Given the description of an element on the screen output the (x, y) to click on. 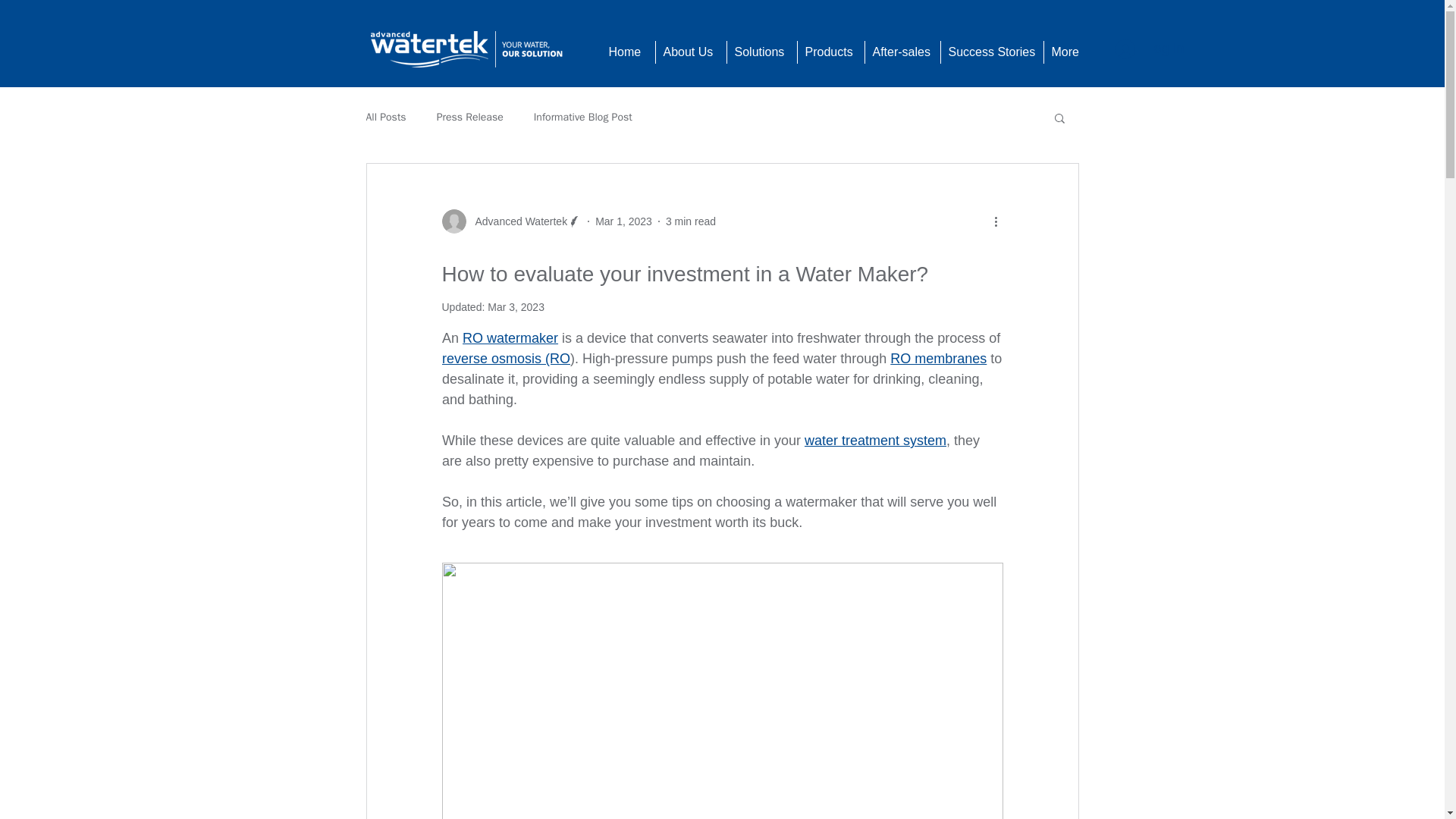
Success Stories (991, 51)
About Us (690, 51)
Home (626, 51)
Solutions (761, 51)
Products (829, 51)
3 min read (690, 221)
Advanced Watertek (516, 221)
Mar 3, 2023 (515, 306)
After-sales (902, 51)
Mar 1, 2023 (623, 221)
